Given the description of an element on the screen output the (x, y) to click on. 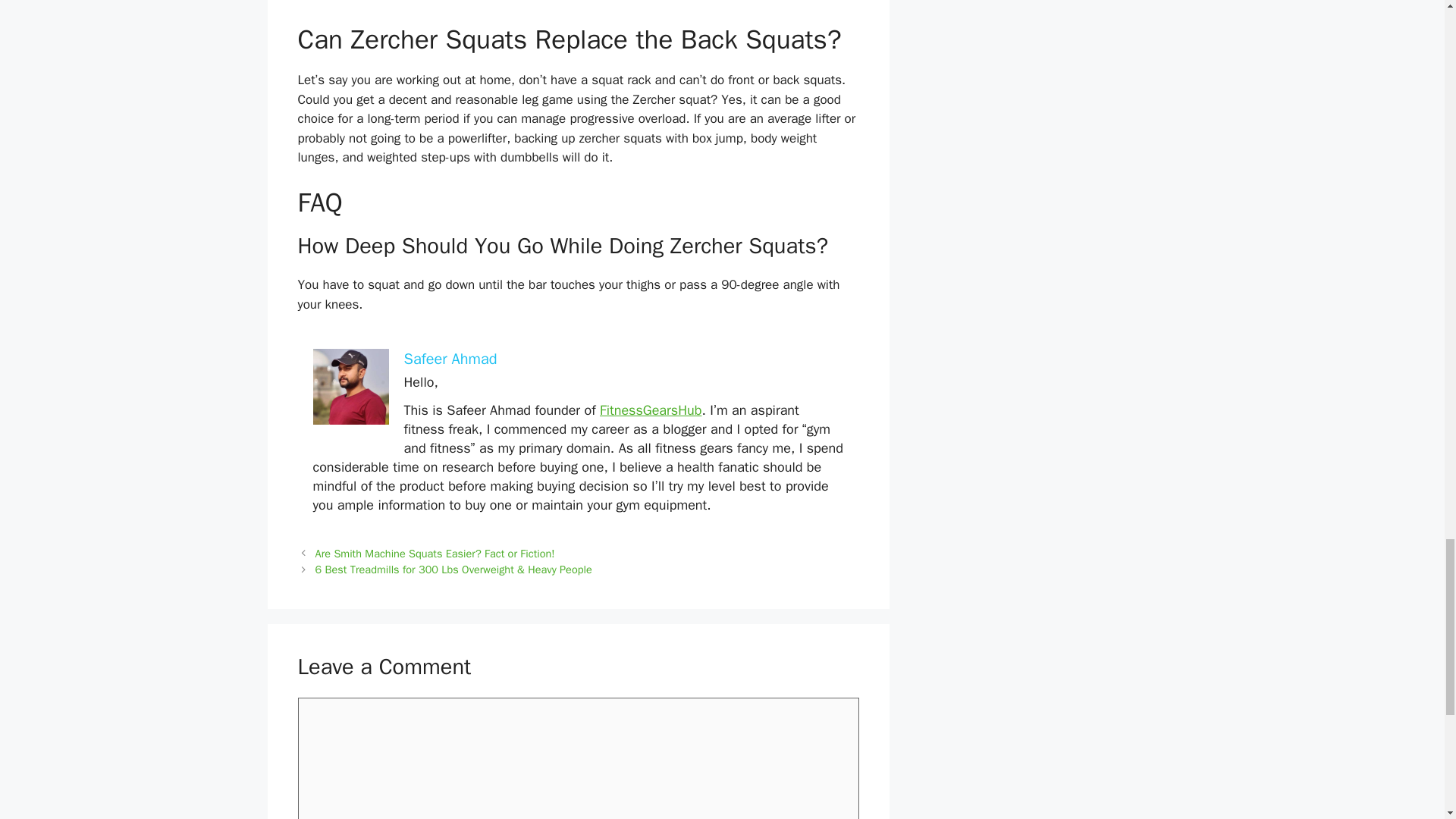
Safeer Ahmad (449, 358)
Are Smith Machine Squats Easier? Fact or Fiction! (434, 553)
FitnessGearsHub (650, 410)
